Given the description of an element on the screen output the (x, y) to click on. 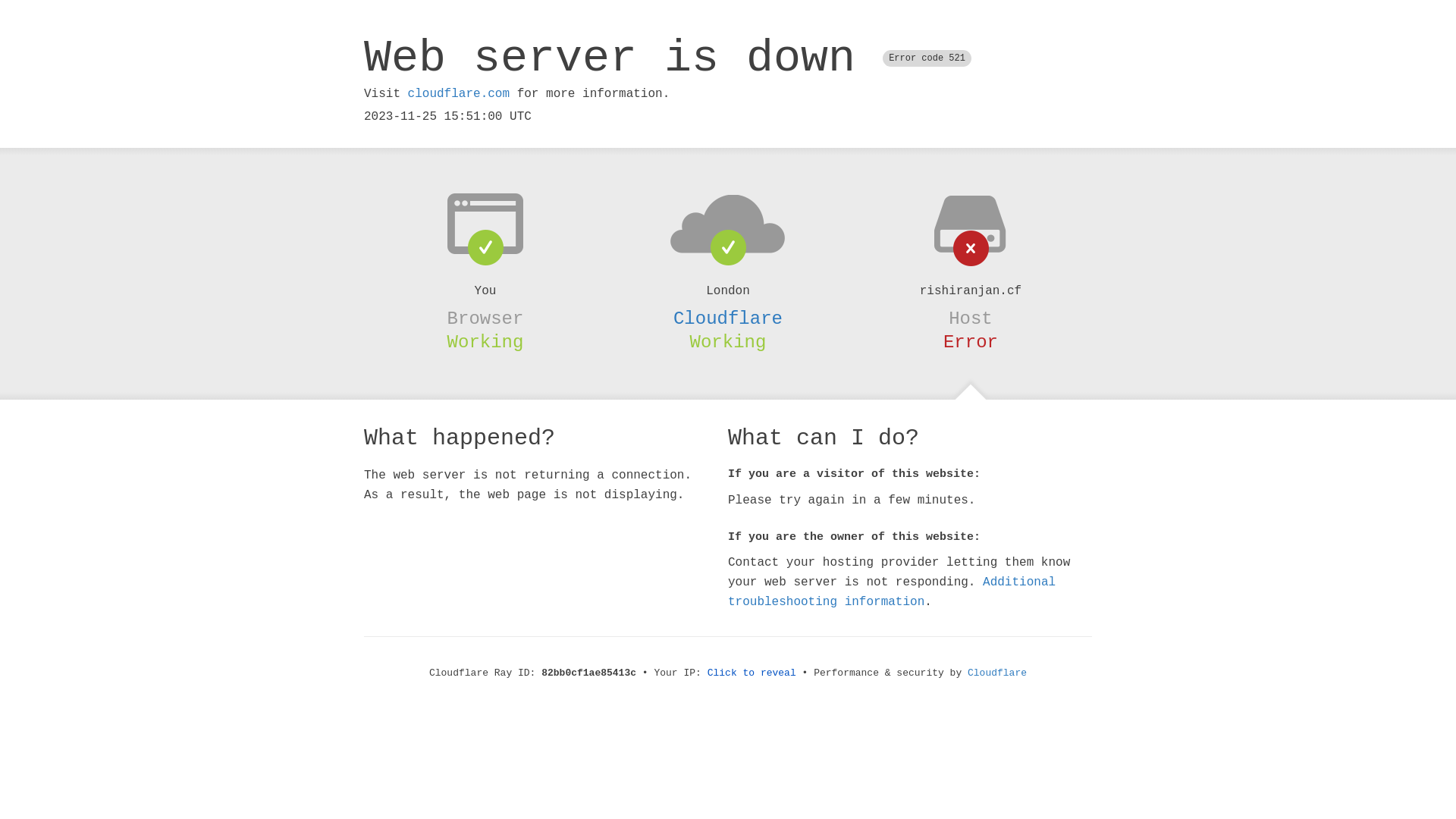
Additional troubleshooting information Element type: text (891, 591)
Cloudflare Element type: text (727, 318)
Click to reveal Element type: text (751, 672)
Cloudflare Element type: text (996, 672)
cloudflare.com Element type: text (458, 93)
